Given the description of an element on the screen output the (x, y) to click on. 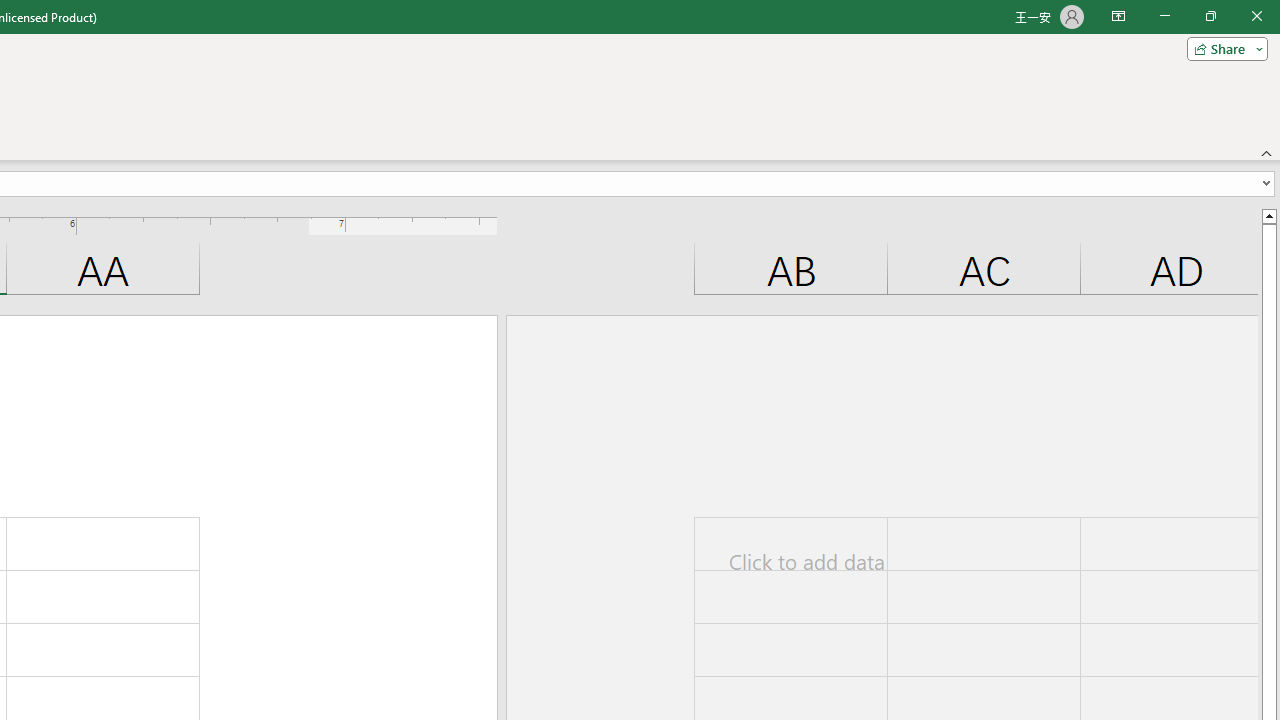
Close (1256, 16)
Share (1223, 48)
Minimize (1164, 16)
Ribbon Display Options (1118, 16)
Line up (1268, 215)
Restore Down (1210, 16)
Collapse the Ribbon (1267, 152)
